Given the description of an element on the screen output the (x, y) to click on. 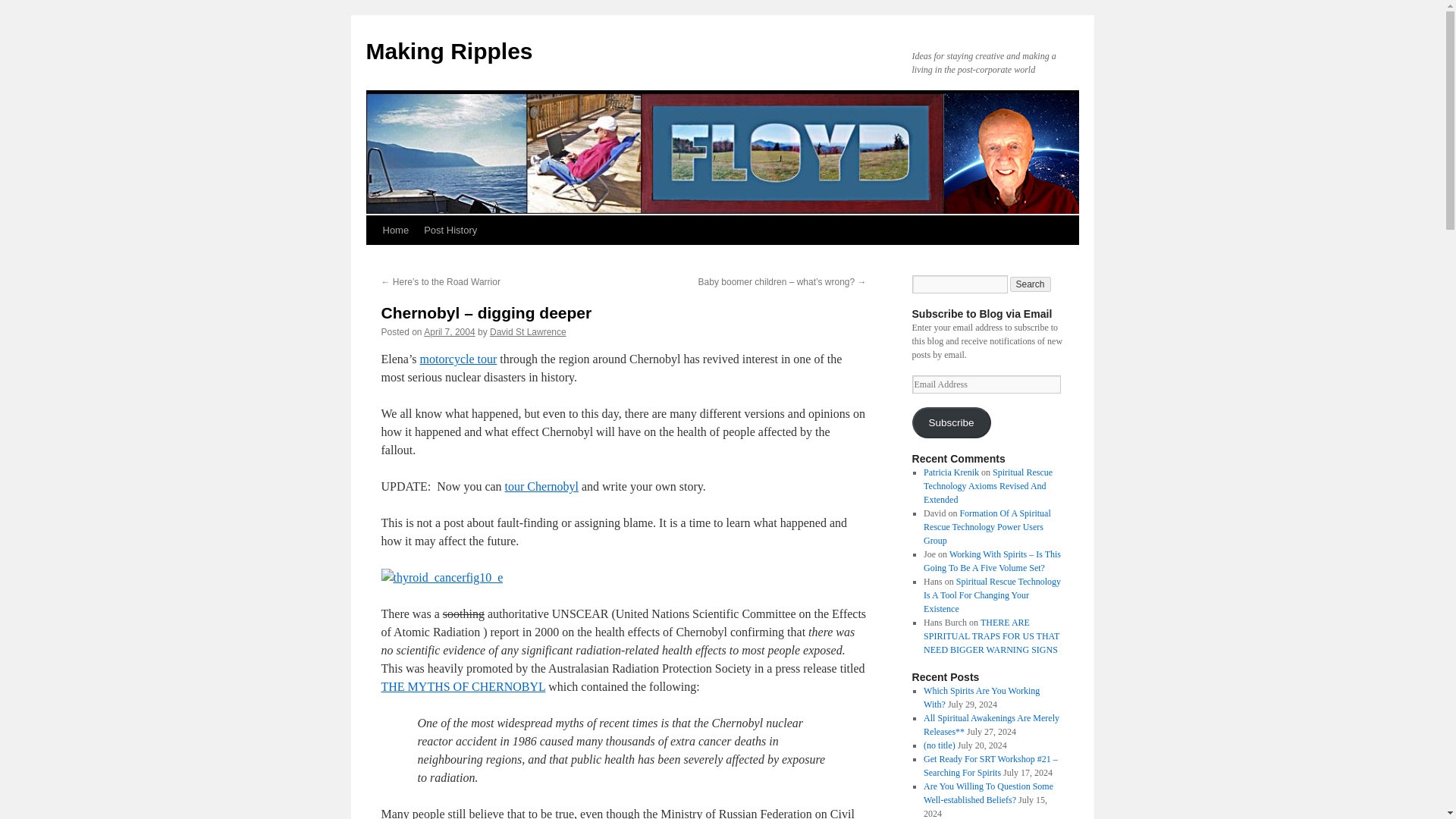
Post History (450, 230)
Home (395, 230)
Making Ripples (448, 50)
David St Lawrence (527, 331)
tour Chernobyl (541, 486)
Making Ripples (448, 50)
motorcycle tour (458, 358)
View all posts by David St Lawrence (527, 331)
12:56 am (448, 331)
Search (1030, 283)
April 7, 2004 (448, 331)
THE MYTHS OF CHERNOBYL (462, 686)
